Given the description of an element on the screen output the (x, y) to click on. 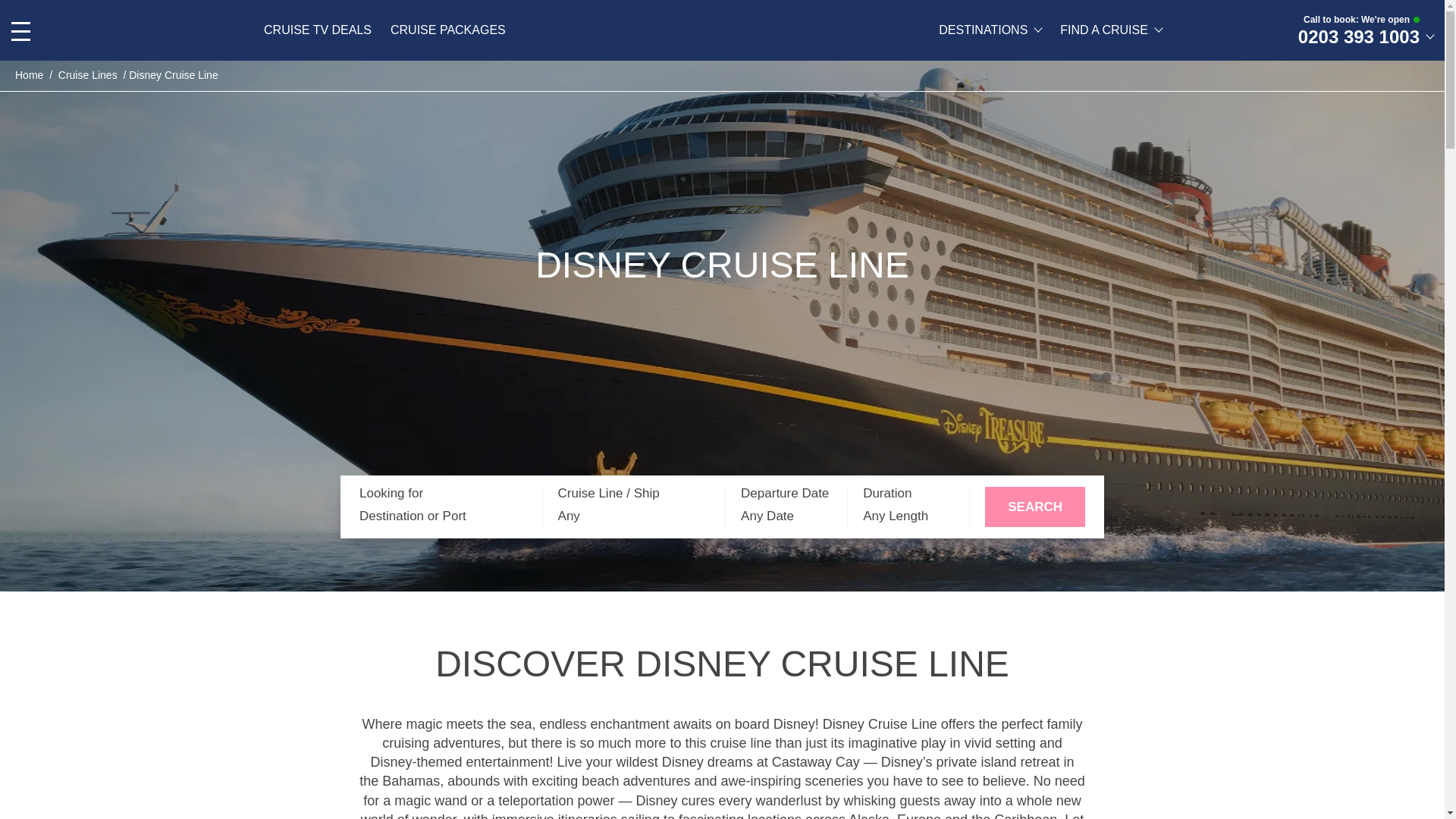
DESTINATIONS (990, 30)
CRUISE PACKAGES (447, 30)
CRUISE TV DEALS (317, 30)
